Given the description of an element on the screen output the (x, y) to click on. 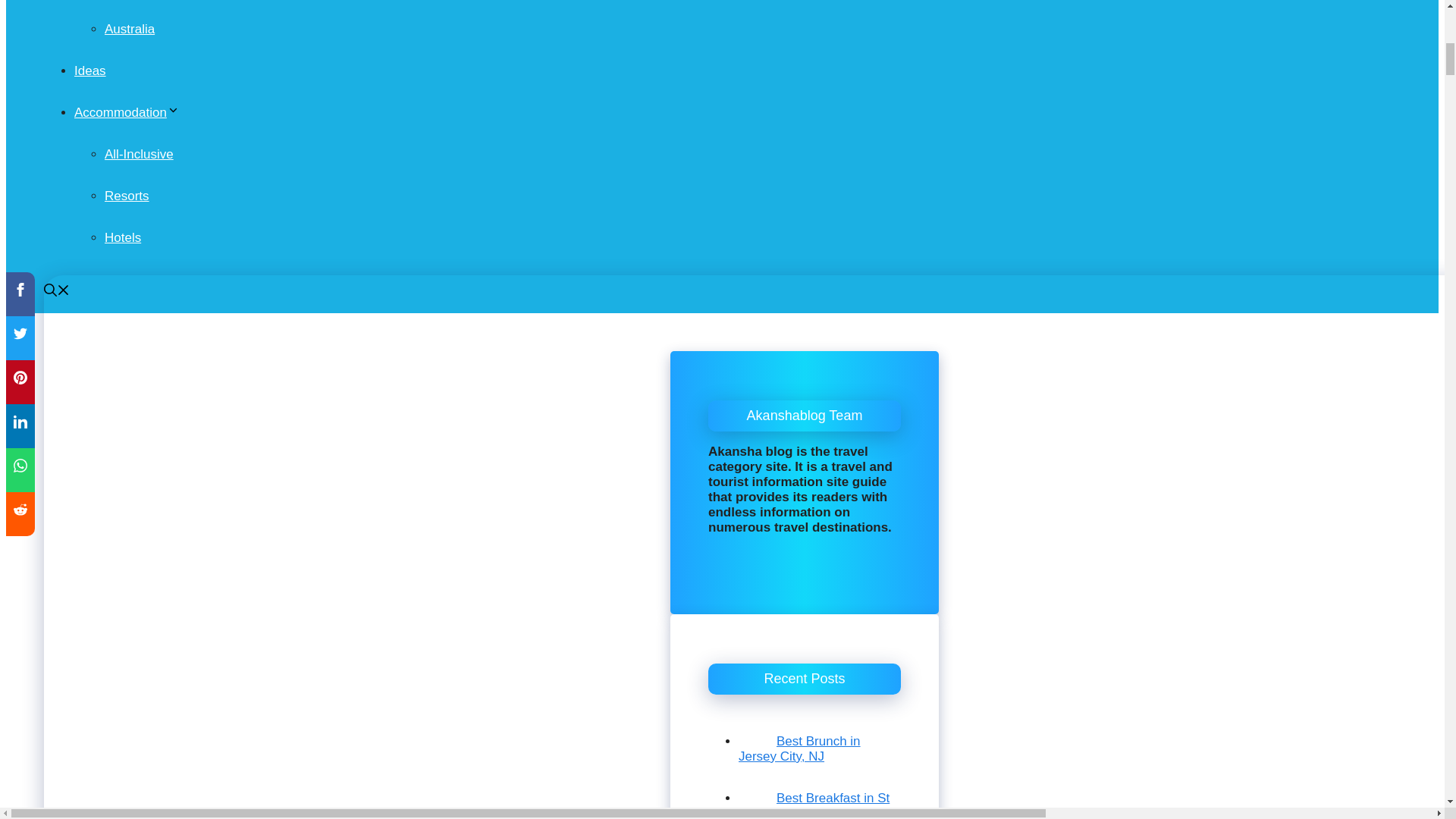
Accommodation (126, 112)
Australia (129, 29)
Hotels (122, 237)
All-Inclusive (138, 154)
Resorts (126, 196)
Ideas (90, 70)
Best Brunch in Jersey City, NJ 12 (757, 726)
